Given the description of an element on the screen output the (x, y) to click on. 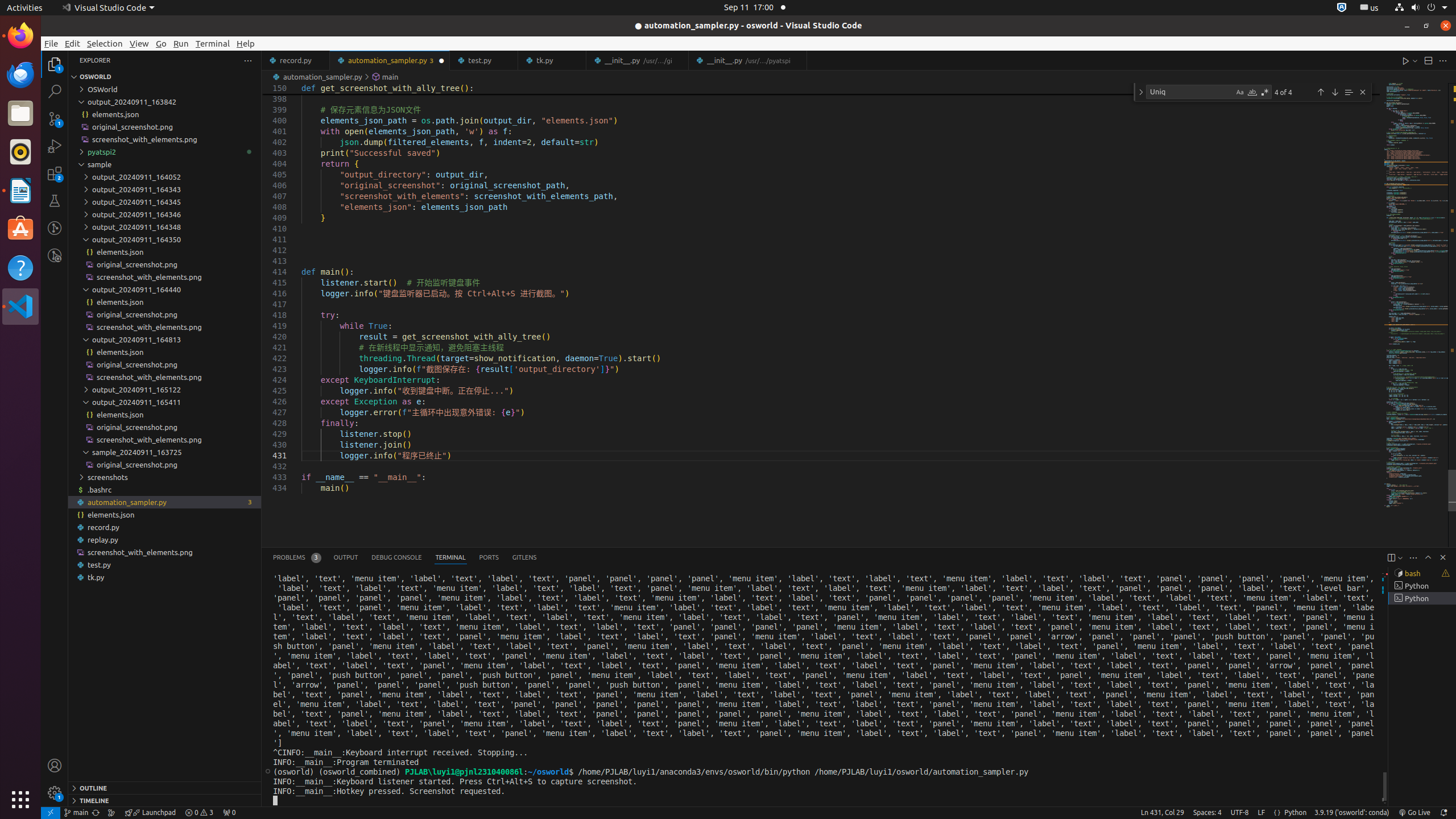
automation_sampler.py Element type: tree-item (164, 501)
Terminal 1 bash Element type: list-item (1422, 573)
Manage - New Code update available. Element type: push-button (54, 792)
test.py Element type: tree-item (164, 564)
Outline Section Element type: push-button (164, 787)
